Given the description of an element on the screen output the (x, y) to click on. 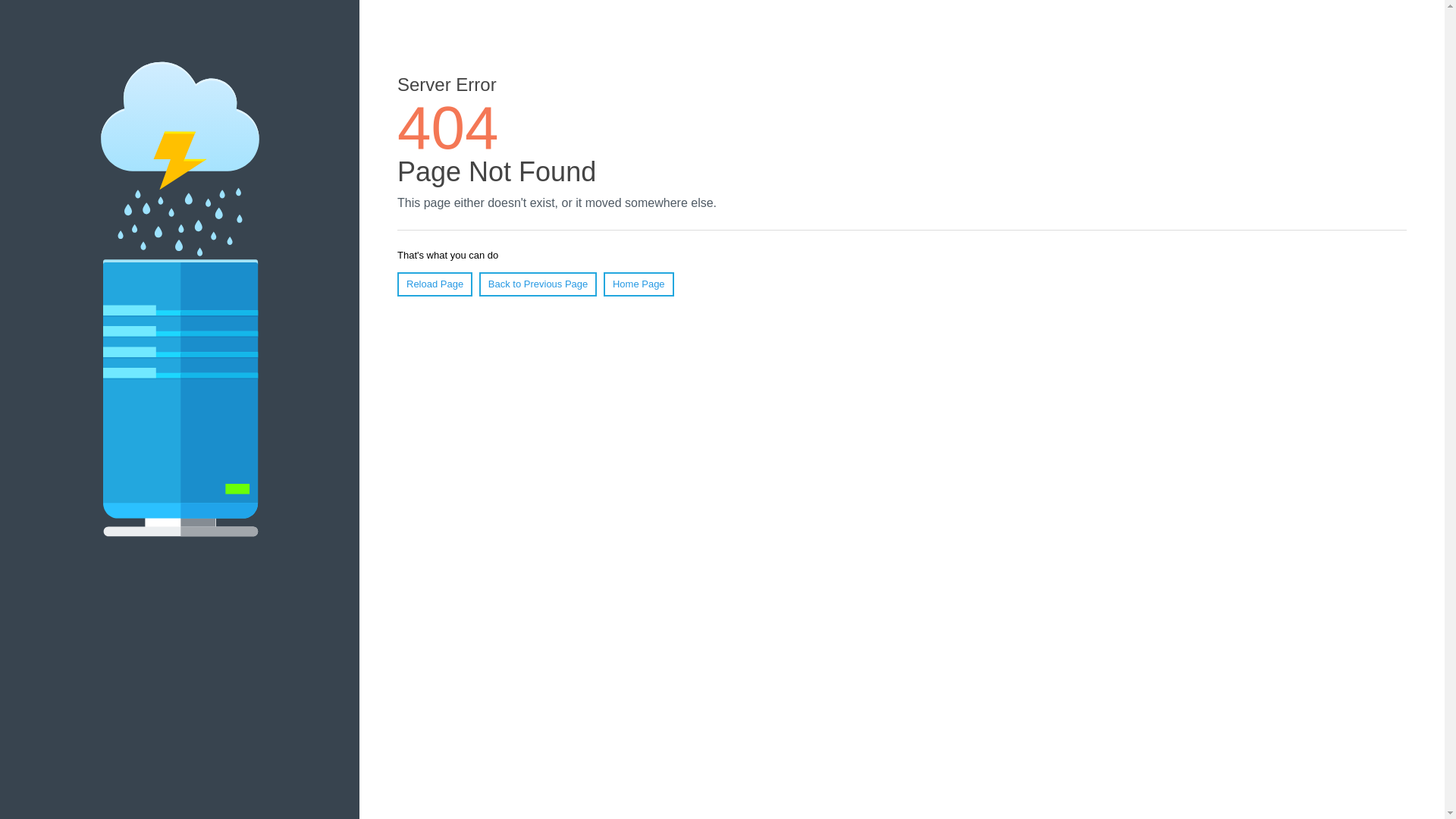
Home Page Element type: text (638, 284)
Reload Page Element type: text (434, 284)
Back to Previous Page Element type: text (538, 284)
